Given the description of an element on the screen output the (x, y) to click on. 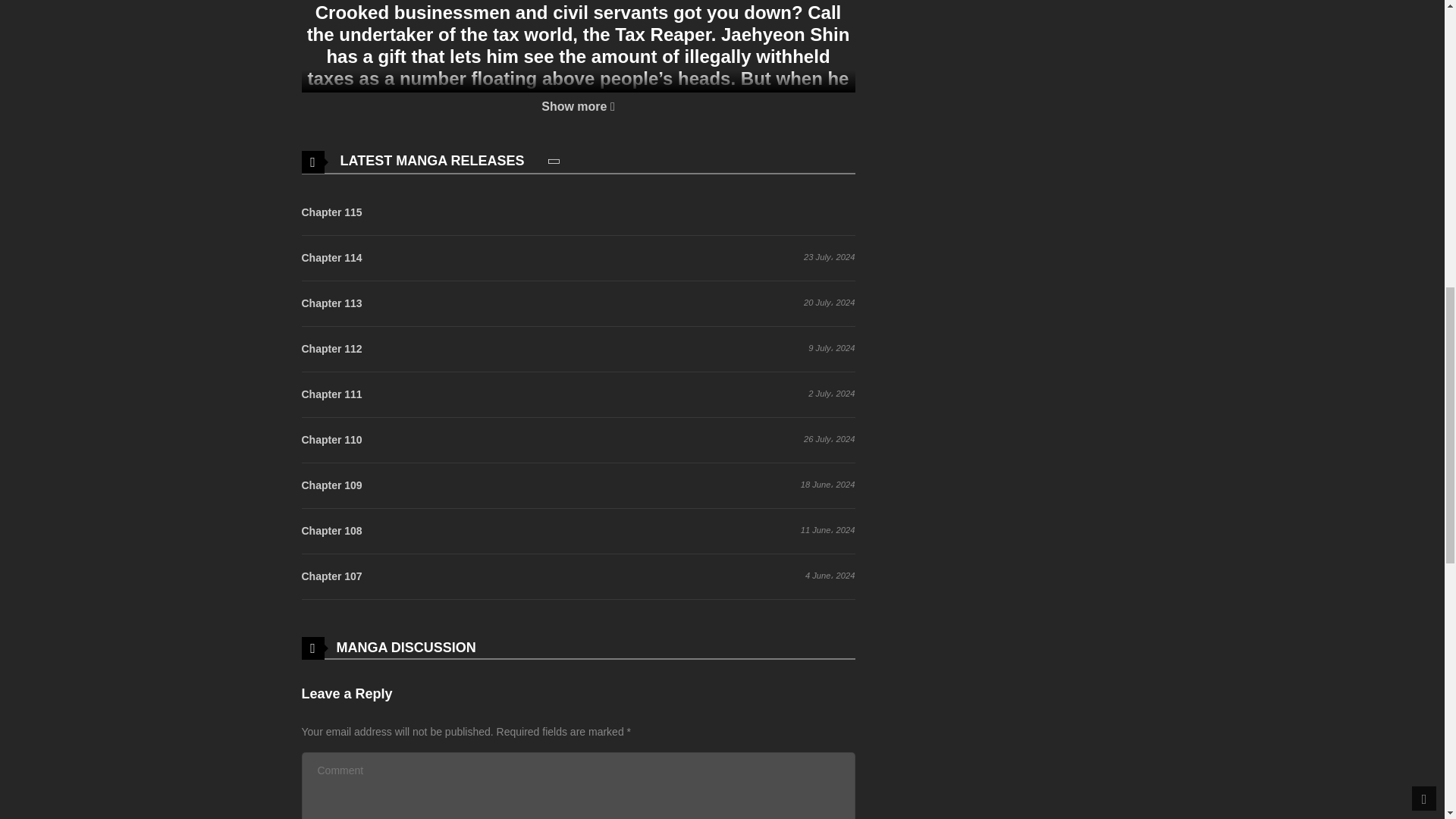
Chapter 115 (331, 212)
Chapter 114 (331, 257)
Chapter 111 (331, 393)
Change Order (553, 160)
Chapter 113 (331, 302)
Chapter 112 (331, 348)
2 days ago (844, 210)
